Given the description of an element on the screen output the (x, y) to click on. 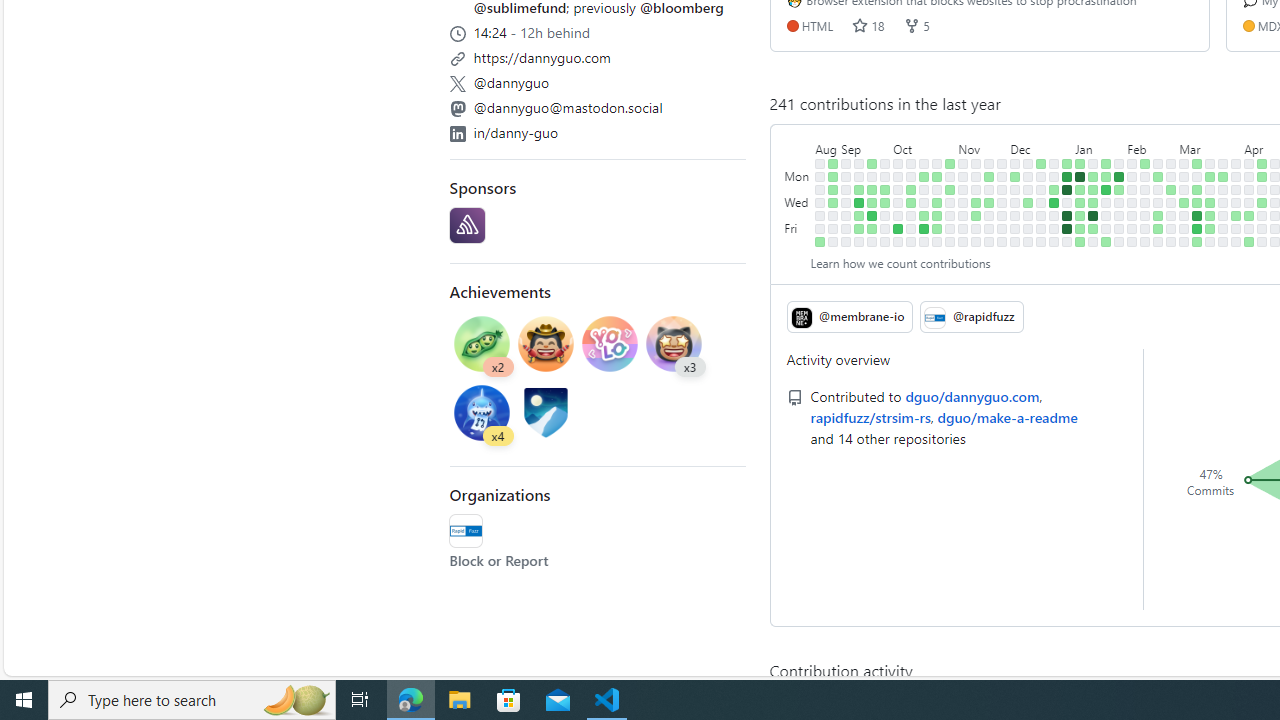
No contributions on December 15th. (1028, 228)
December (1040, 145)
No contributions on December 12th. (1028, 189)
1 contribution on November 16th. (976, 215)
7 contributions on March 14th. (1197, 215)
No contributions on November 1st. (950, 202)
No contributions on January 14th. (1093, 163)
No contributions on December 28th. (1054, 215)
No contributions on November 5th. (962, 163)
No contributions on November 21st. (989, 189)
No contributions on February 18th. (1158, 163)
Block or Report (499, 560)
No contributions on September 3rd. (846, 163)
No contributions on August 24th. (820, 215)
 @membrane-io (849, 316)
